Given the description of an element on the screen output the (x, y) to click on. 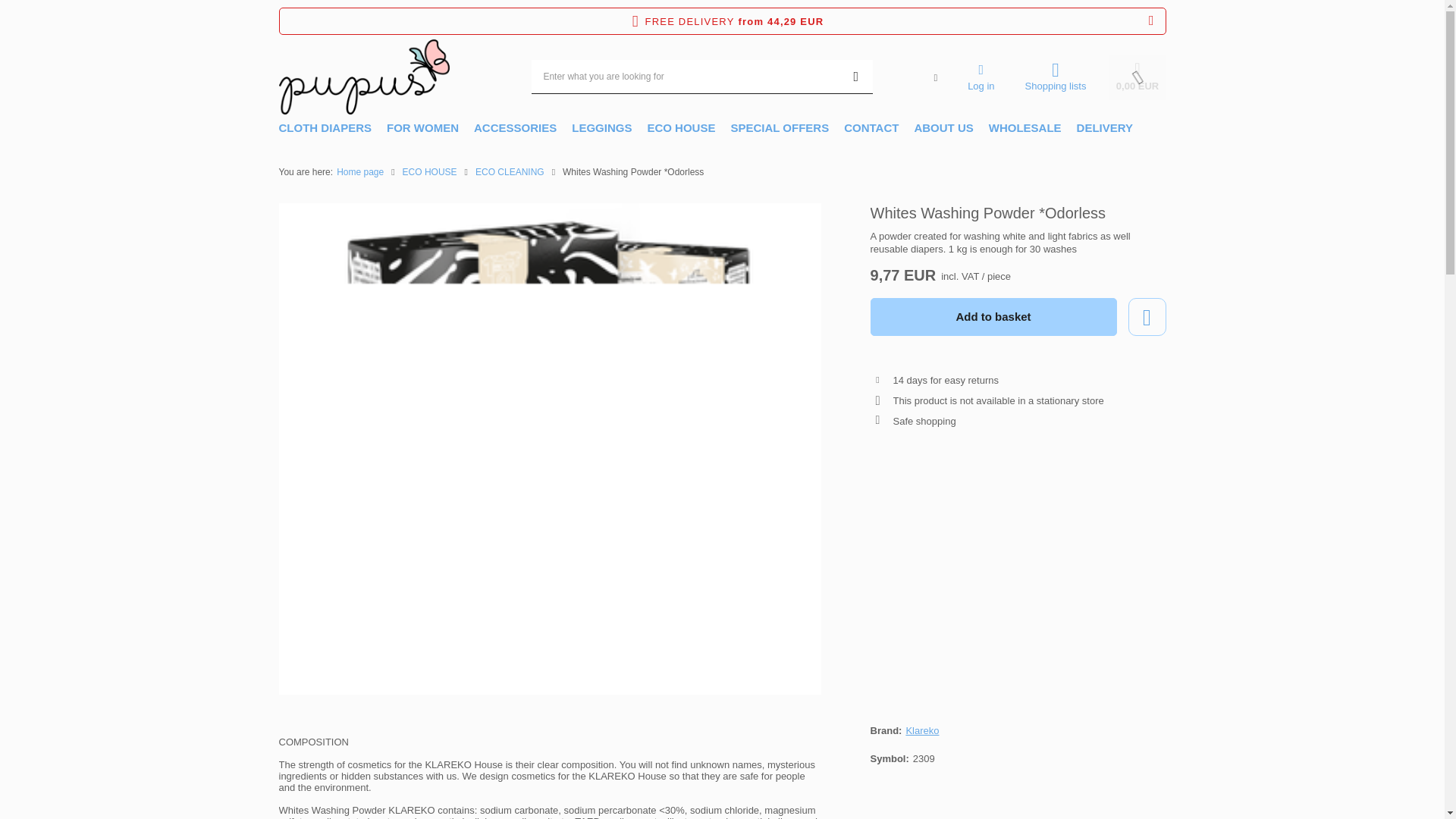
Shopping lists (1055, 76)
0,00 EUR (1137, 76)
CLOTH DIAPERS (325, 129)
FOR WOMEN (421, 129)
CLOTH DIAPERS (325, 129)
